Given the description of an element on the screen output the (x, y) to click on. 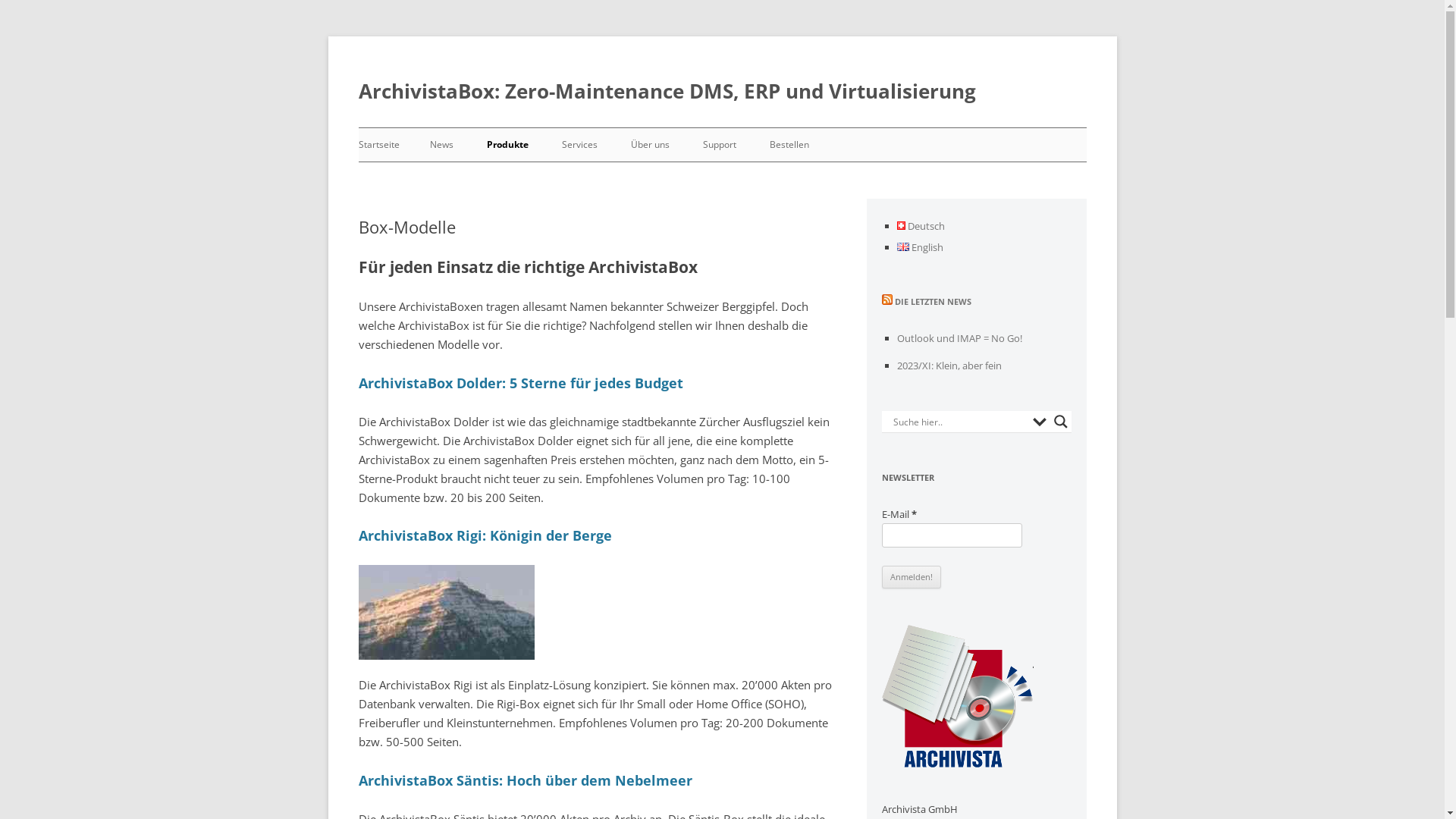
Support Element type: text (718, 144)
Deutsch Element type: text (920, 225)
Firmengeschichte Element type: text (705, 169)
E-Mail Element type: hover (951, 535)
Zum Inhalt springen Element type: text (721, 127)
Consulting Element type: text (635, 169)
English Element type: hover (902, 246)
Produkte Element type: text (507, 144)
Handbuch Element type: text (776, 169)
Services Element type: text (578, 144)
Partner werden Element type: text (843, 169)
News Element type: text (440, 144)
Deutsch Element type: hover (900, 225)
Startseite Element type: text (377, 144)
Outlook und IMAP = No Go! Element type: text (958, 338)
DMS und ERP Element type: text (561, 169)
English Element type: text (919, 247)
DIE LETZTEN NEWS Element type: text (932, 301)
ArchivistaBox: Zero-Maintenance DMS, ERP und Virtualisierung Element type: text (666, 90)
Bestellen Element type: text (788, 144)
Anmelden! Element type: text (910, 576)
Outlook und IMAP = No Go! Element type: text (503, 169)
2023/XI: Klein, aber fein Element type: text (948, 365)
